Given the description of an element on the screen output the (x, y) to click on. 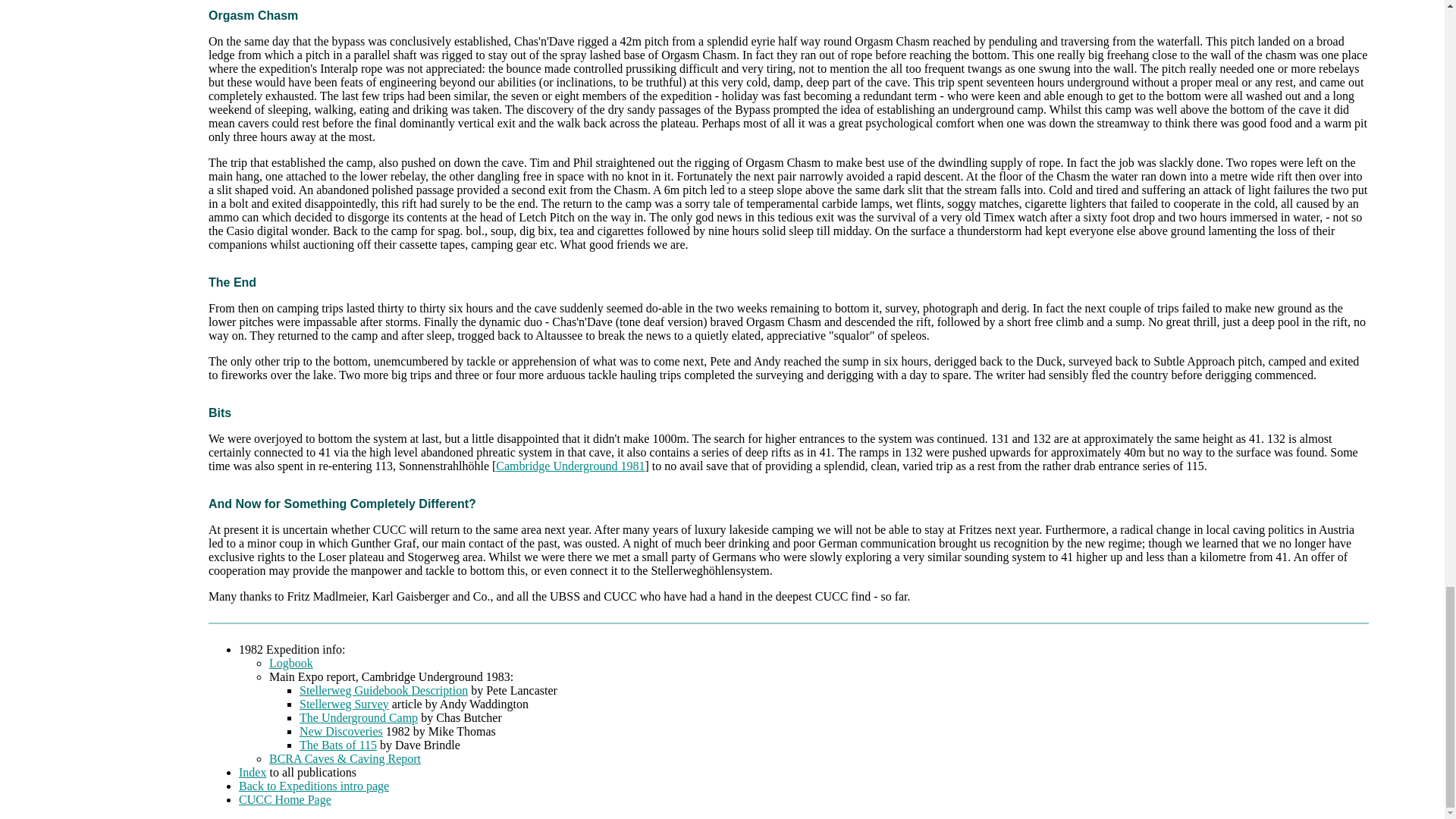
Logbook (291, 662)
CUCC Home Page (284, 799)
New Discoveries (340, 730)
Stellerweg Survey (343, 703)
Back to Expeditions intro page (313, 785)
Index (252, 771)
Cambridge Underground 1981 (570, 465)
Stellerweg Guidebook Description (383, 689)
The Bats of 115 (338, 744)
The Underground Camp (358, 717)
